Given the description of an element on the screen output the (x, y) to click on. 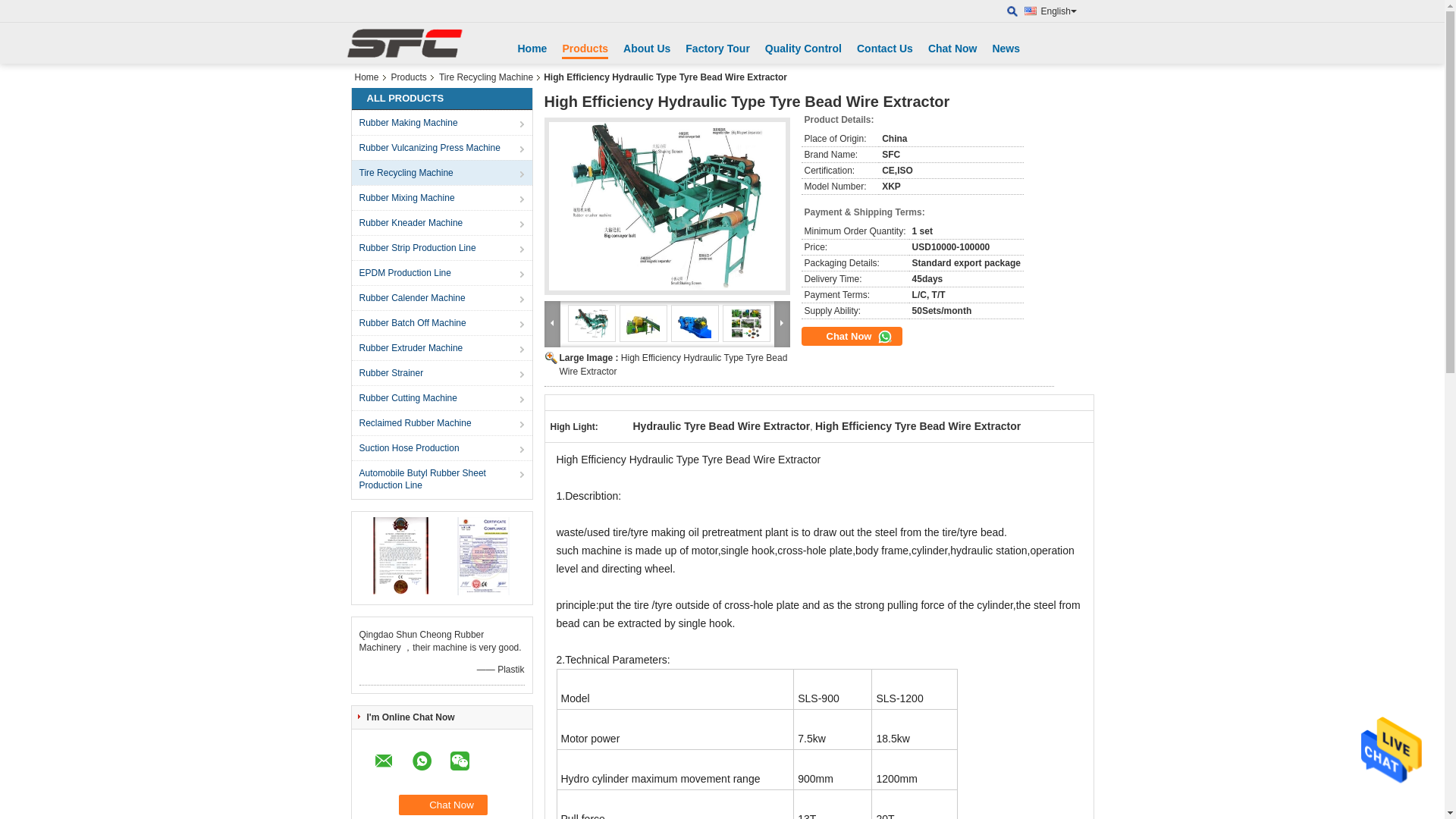
Home (370, 77)
Contact Us (884, 48)
Tire Recycling Machine (443, 172)
Rubber Vulcanizing Press Machine (443, 147)
Rubber Strip Production Line (443, 247)
Rubber Mixing Machine (443, 197)
Factory Tour (717, 48)
English (1061, 12)
About Us (646, 48)
Tire Recycling Machine (485, 77)
News (1005, 48)
Products (585, 50)
Quality Control (803, 48)
Home (531, 48)
Products (408, 77)
